Given the description of an element on the screen output the (x, y) to click on. 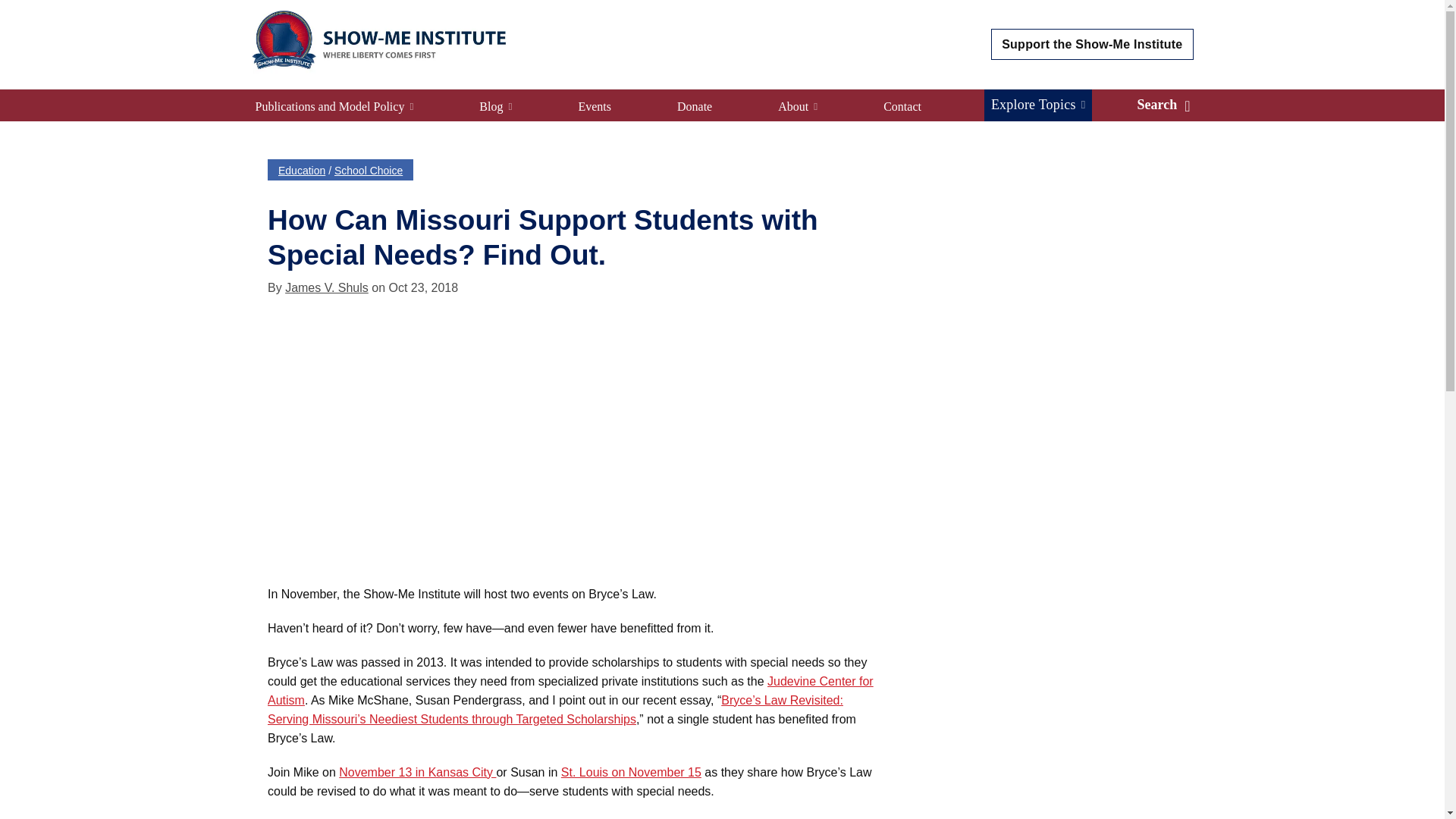
Posts by James V. Shuls (326, 287)
